Given the description of an element on the screen output the (x, y) to click on. 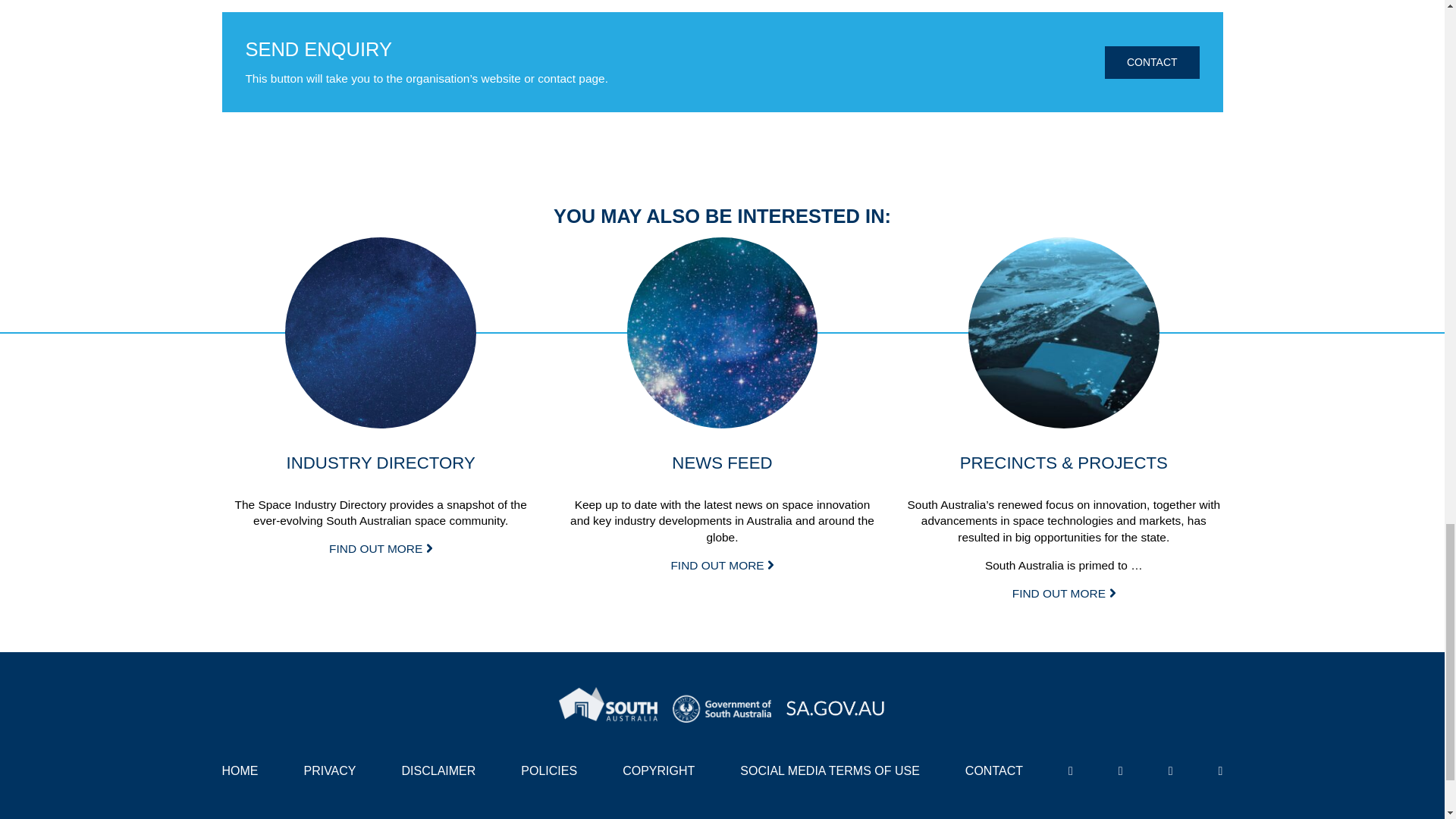
View: News Feed (721, 564)
View: News Feed (722, 332)
Government of South Australia Logo (721, 704)
View: INDUSTRY DIRECTORY (380, 548)
South Australia White Logo (608, 705)
View: INDUSTRY DIRECTORY (380, 332)
sa.gov.au logo (835, 704)
